Given the description of an element on the screen output the (x, y) to click on. 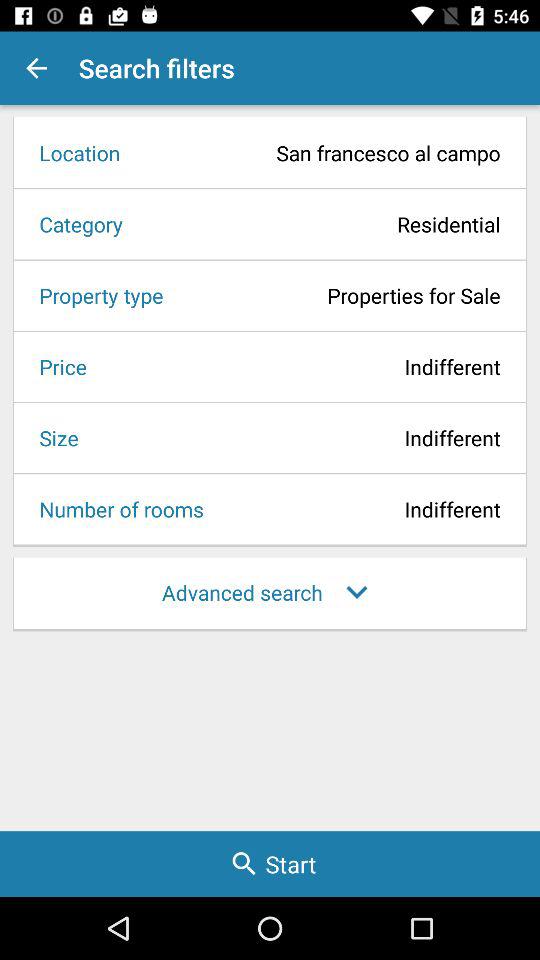
swipe to properties for sale item (338, 295)
